Given the description of an element on the screen output the (x, y) to click on. 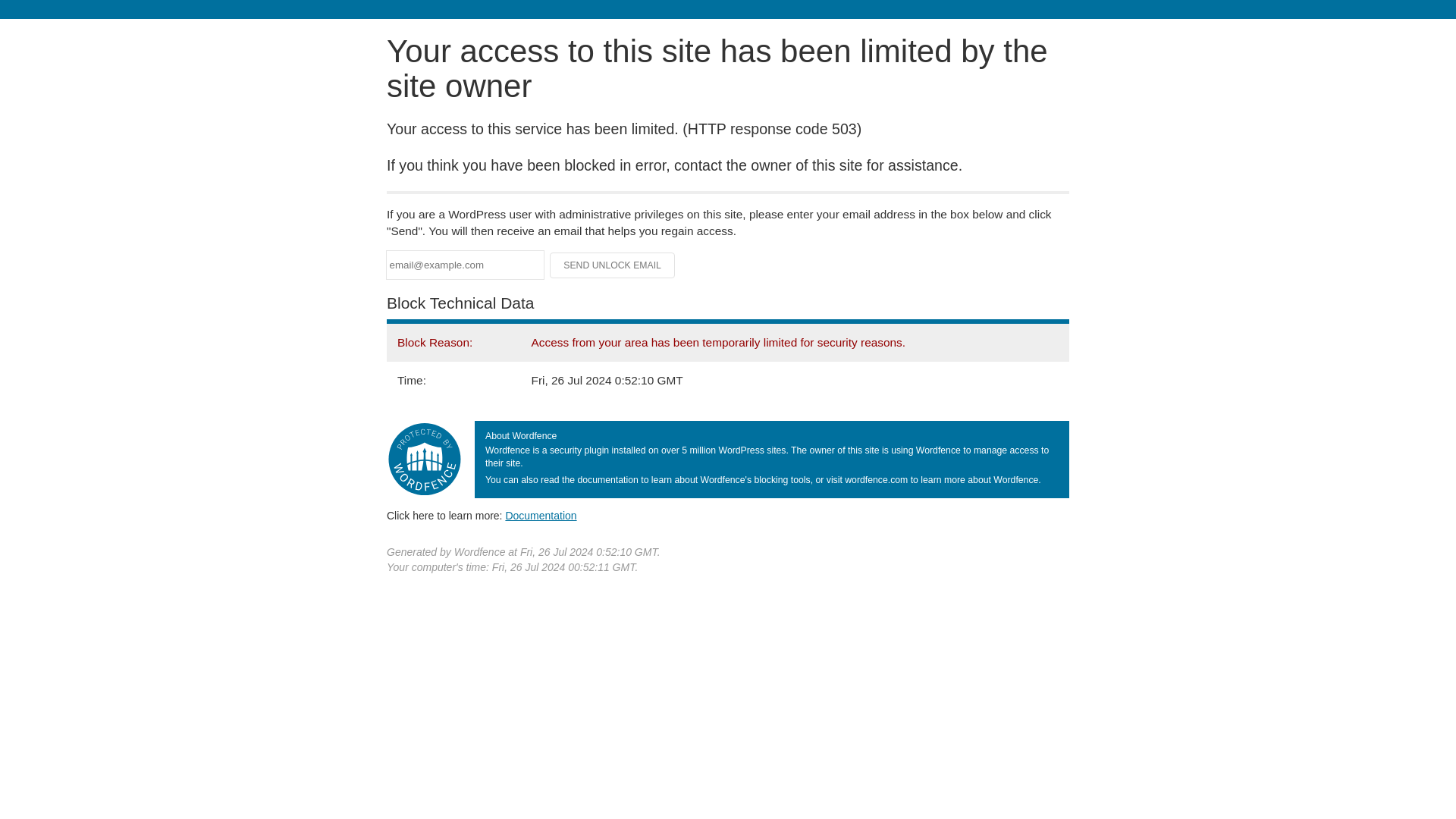
Documentation (540, 515)
Send Unlock Email (612, 265)
Send Unlock Email (612, 265)
